Given the description of an element on the screen output the (x, y) to click on. 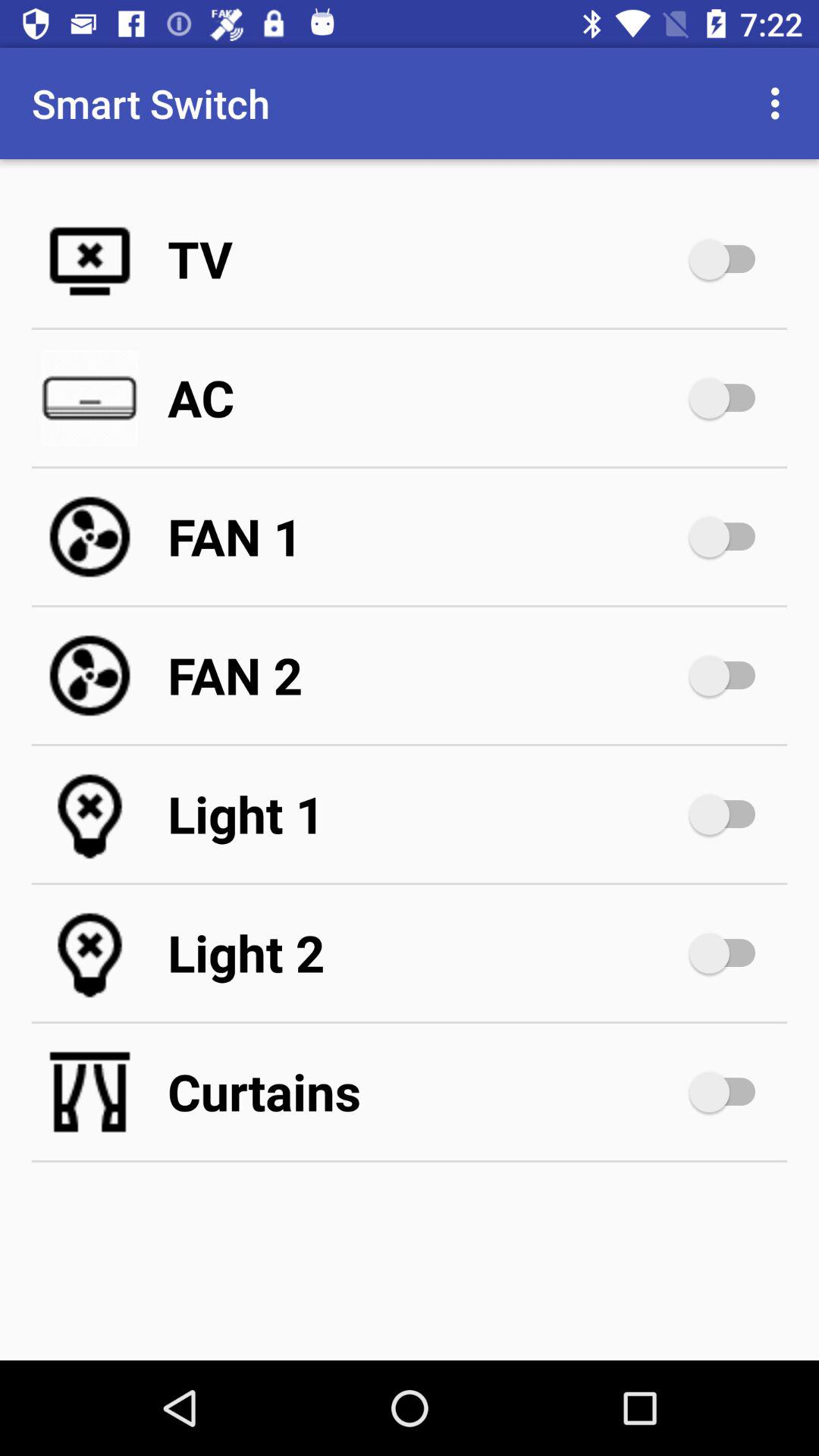
toggle second fan (729, 675)
